Given the description of an element on the screen output the (x, y) to click on. 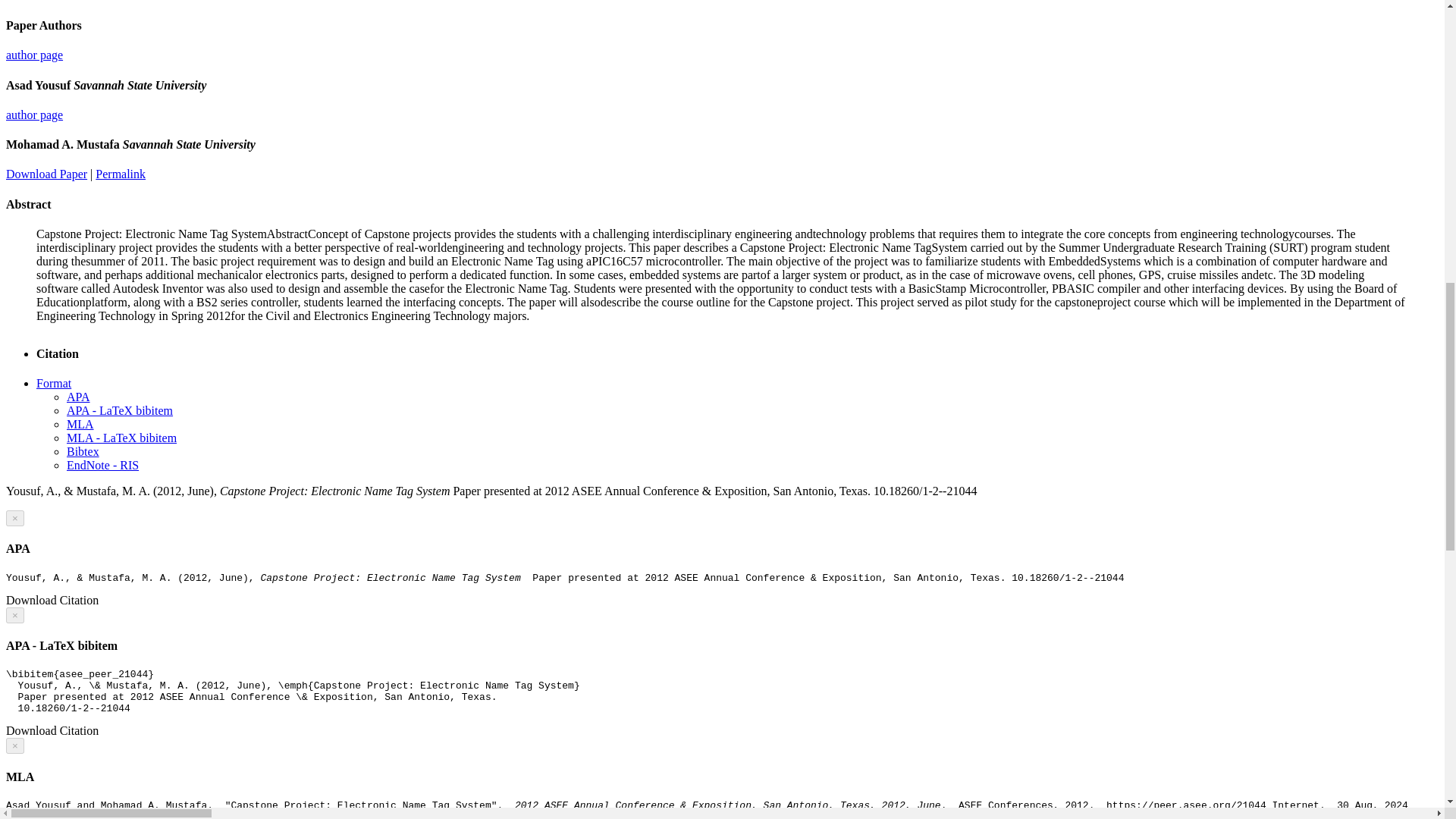
Download Paper (46, 173)
author page (33, 114)
EndNote - RIS (102, 464)
APA - LaTeX bibitem (119, 410)
Bibtex (82, 451)
Download Citation (52, 599)
author page (33, 54)
Download Citation (52, 730)
MLA (80, 423)
Format (53, 382)
